Given the description of an element on the screen output the (x, y) to click on. 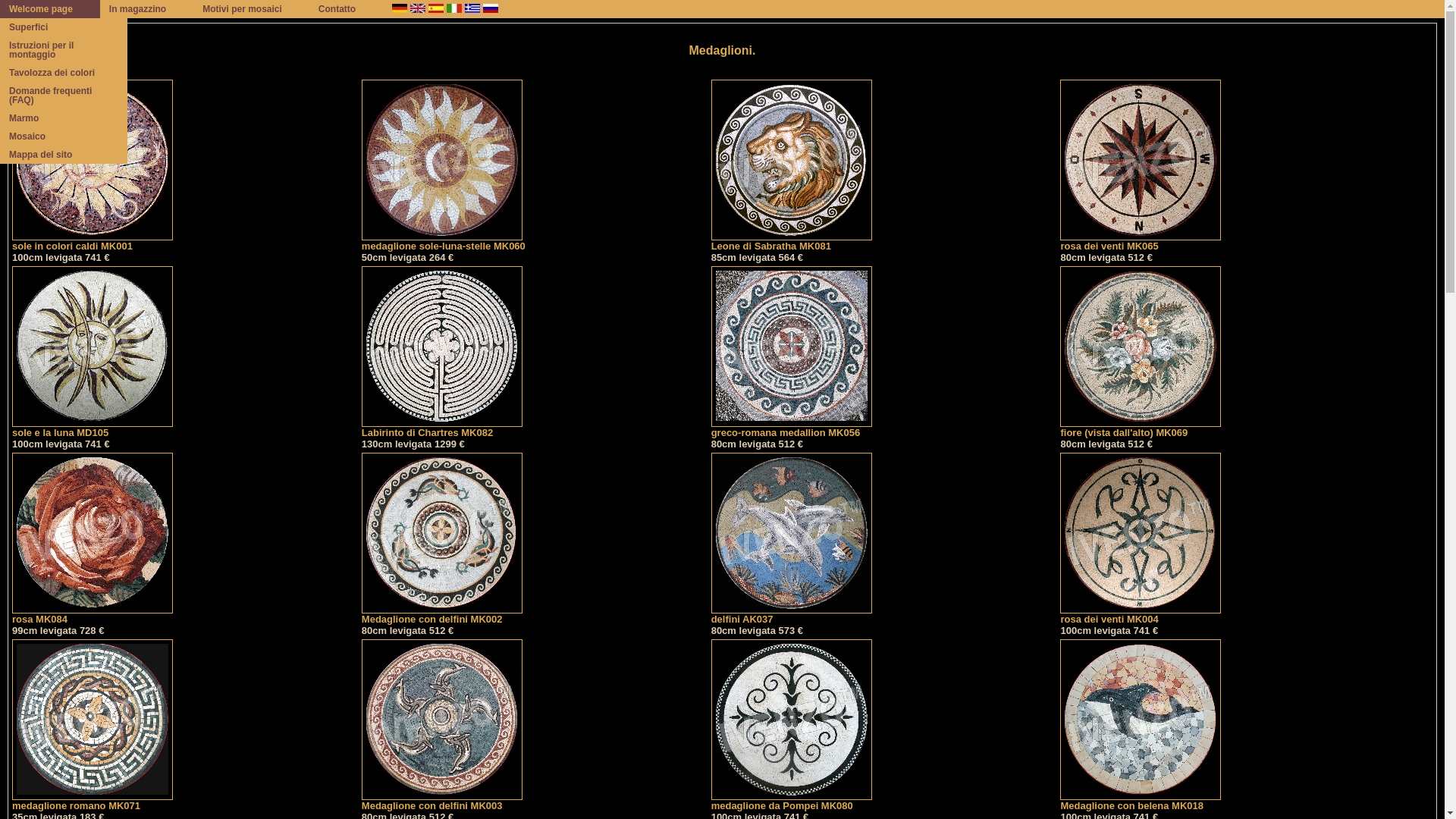
Motivi per mosaici Element type: text (251, 9)
rosa dei venti MK065 Element type: text (1140, 240)
delfini AK037 Element type: text (791, 613)
Mosaico Labirinto di Chartres Element type: hover (441, 346)
Medaglione con delfini MK003 Element type: text (441, 800)
Mosaico Leone di Sabratha Element type: hover (791, 159)
Welcome page Element type: text (50, 9)
medaglione sole-luna-stelle MK060 Element type: text (443, 240)
Medaglione con delfini MK002 Element type: text (441, 613)
Mosaico rosa  dei  venti Element type: hover (1140, 532)
Marmo Element type: text (63, 118)
Mosaico Medaglione con delfini Element type: hover (441, 719)
Mosaico fiore (vista dall'alto) Element type: hover (1140, 346)
sole e la luna MD105 Element type: text (92, 427)
Mosaico medaglione romano Element type: hover (92, 719)
In magazzino Element type: text (146, 9)
Contatto Element type: text (345, 9)
rosa dei venti MK004 Element type: text (1140, 613)
Leone di Sabratha MK081 Element type: text (791, 240)
medaglione da Pompei MK080 Element type: text (791, 800)
medaglione romano MK071 Element type: text (92, 800)
Labirinto di Chartres MK082 Element type: text (441, 427)
Mosaico medaglione sole-luna-stelle Element type: hover (441, 159)
Mosaico sole in colori caldi Element type: hover (92, 159)
Mosaico Element type: text (63, 136)
sole in colori caldi MK001 Element type: text (92, 240)
greco-romana medallion MK056 Element type: text (791, 427)
Mosaico rosa  dei  venti Element type: hover (1140, 159)
Istruzioni per il montaggio Element type: text (63, 49)
Mappa del sito Element type: text (63, 154)
Medaglione con belena MK018 Element type: text (1140, 800)
Mosaico greco-romana medallion Element type: hover (791, 346)
Domande frequenti (FAQ) Element type: text (63, 95)
Mosaico medaglione da Pompei Element type: hover (791, 719)
Mosaico Medaglione con belena Element type: hover (1140, 719)
Tavolozza dei colori Element type: text (63, 72)
rosa MK084 Element type: text (92, 613)
Mosaico sole e la luna Element type: hover (92, 346)
Mosaico delfini Element type: hover (791, 532)
Superfici Element type: text (63, 27)
choose language Element type: hover (453, 9)
fiore (vista dall'alto) MK069 Element type: text (1140, 427)
Mosaico Medaglione con delfini Element type: hover (441, 532)
Mosaico rosa Element type: hover (92, 532)
